Given the description of an element on the screen output the (x, y) to click on. 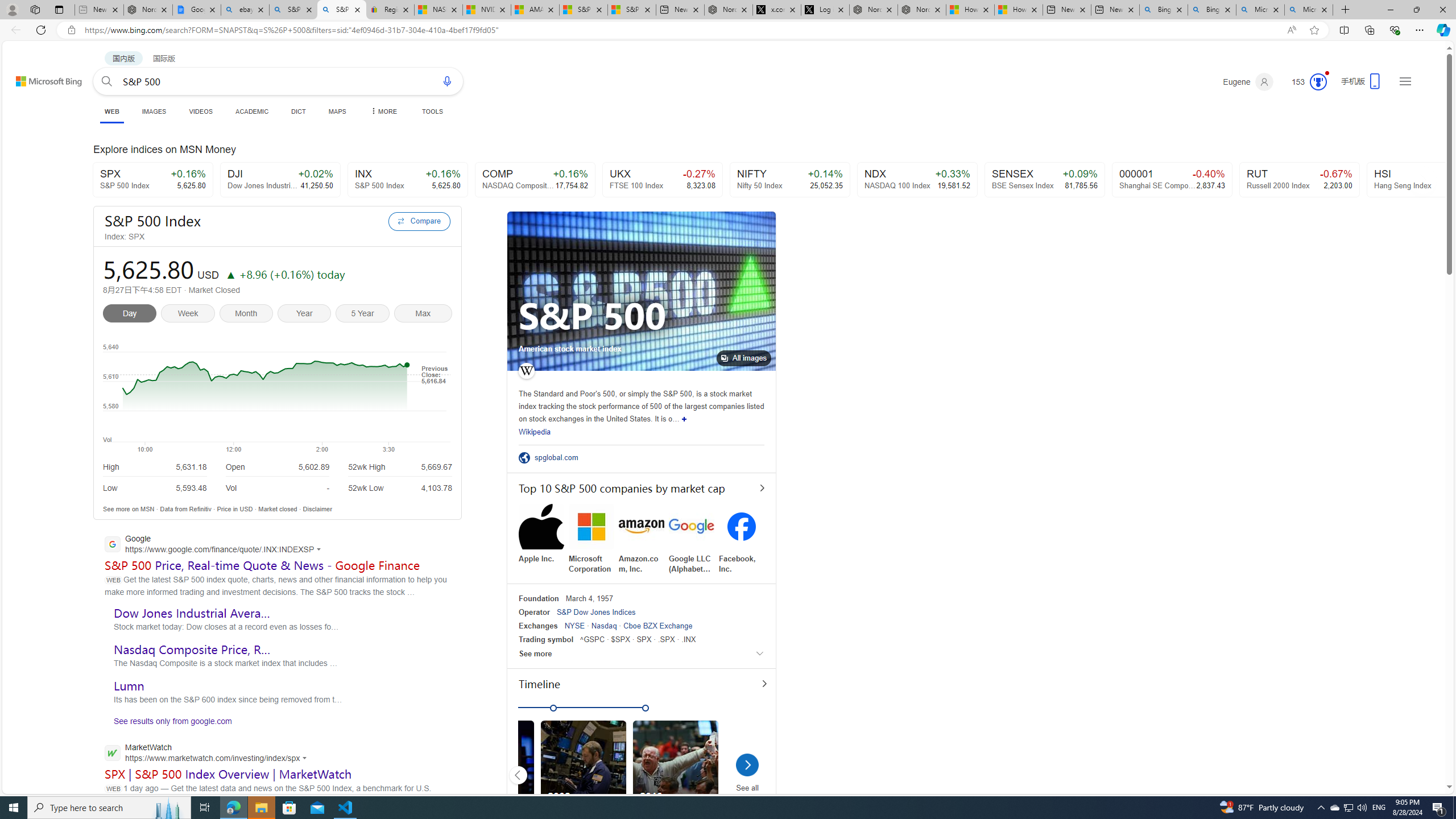
COMP +0.16% NASDAQ Composite Index 17,754.82 (535, 179)
IMAGES (153, 111)
Price increase (230, 273)
UKX-0.27%FTSE 100 Index8,323.08 (662, 179)
S&P 500 (592, 316)
SPX+0.16%S&P 500 Index5,625.80 (152, 179)
Week (190, 314)
Back to Bing search (41, 78)
Wikipedia (534, 431)
See all See all (746, 777)
Address and search bar (680, 29)
